Given the description of an element on the screen output the (x, y) to click on. 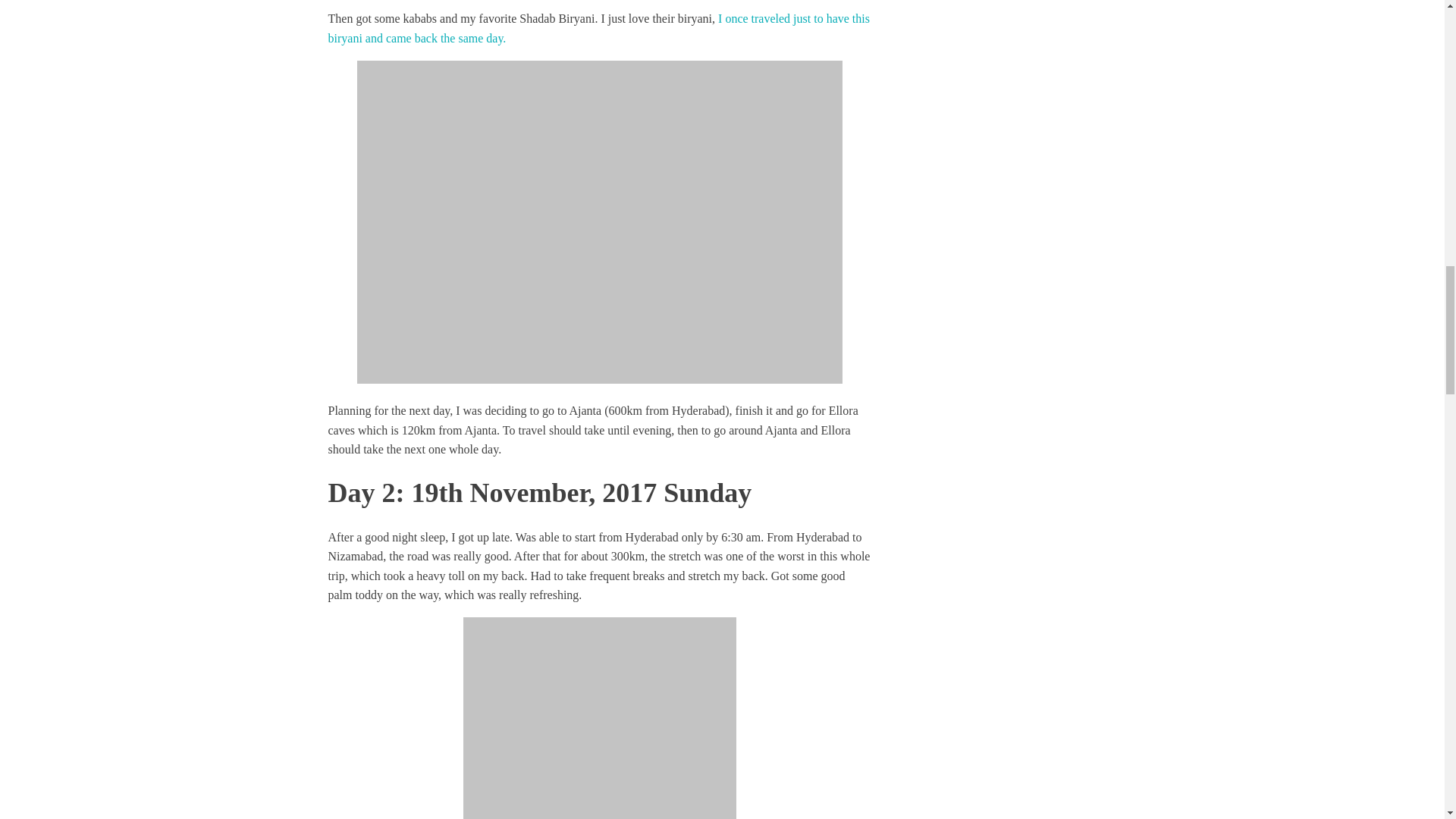
Palm kallu, Telangana (599, 718)
